Given the description of an element on the screen output the (x, y) to click on. 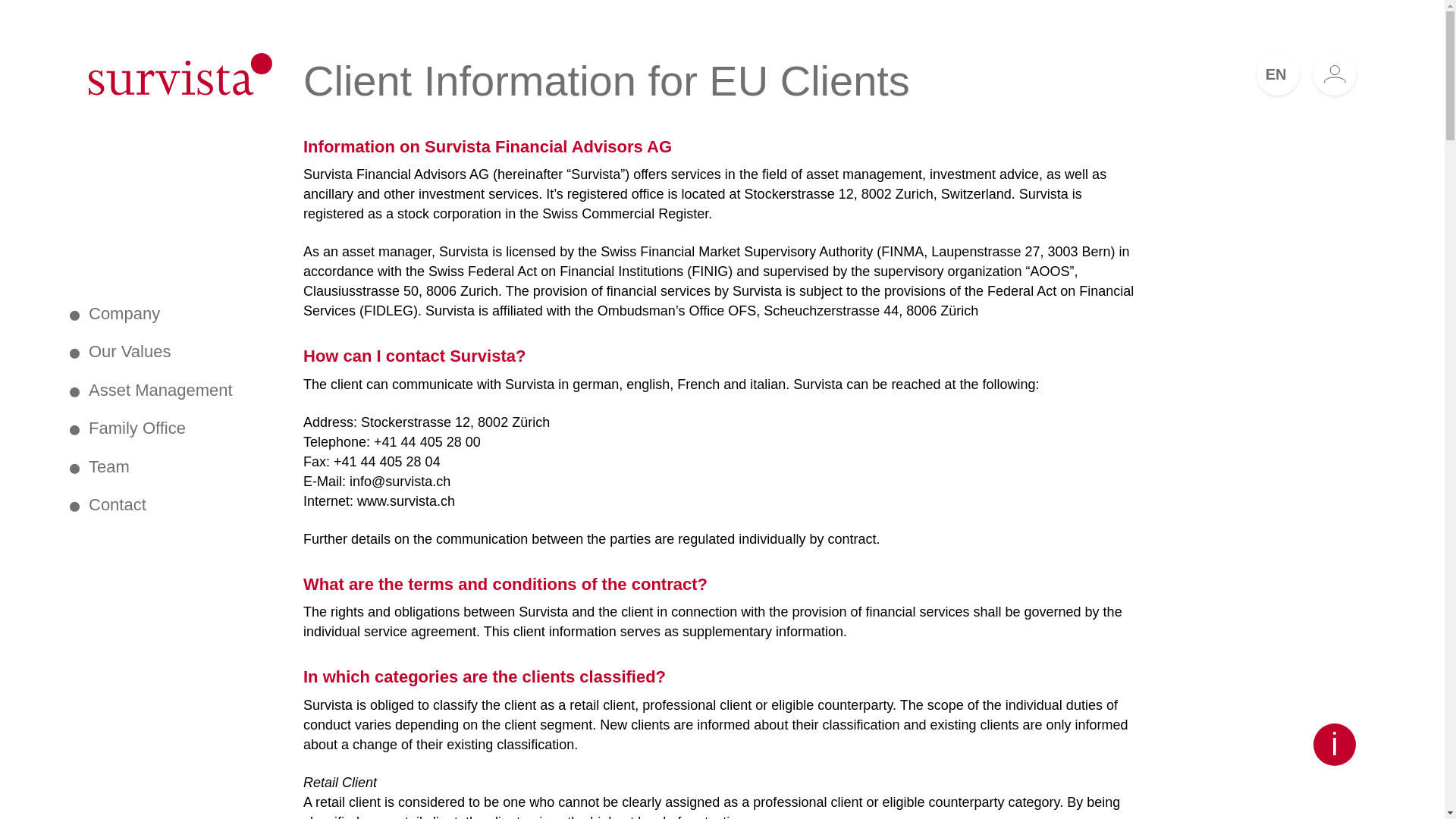
DE (1432, 74)
Our Values (119, 351)
Asset Management (150, 390)
Company (114, 313)
Contact (108, 505)
Team (99, 465)
Family Office (127, 428)
i (1334, 744)
